Given the description of an element on the screen output the (x, y) to click on. 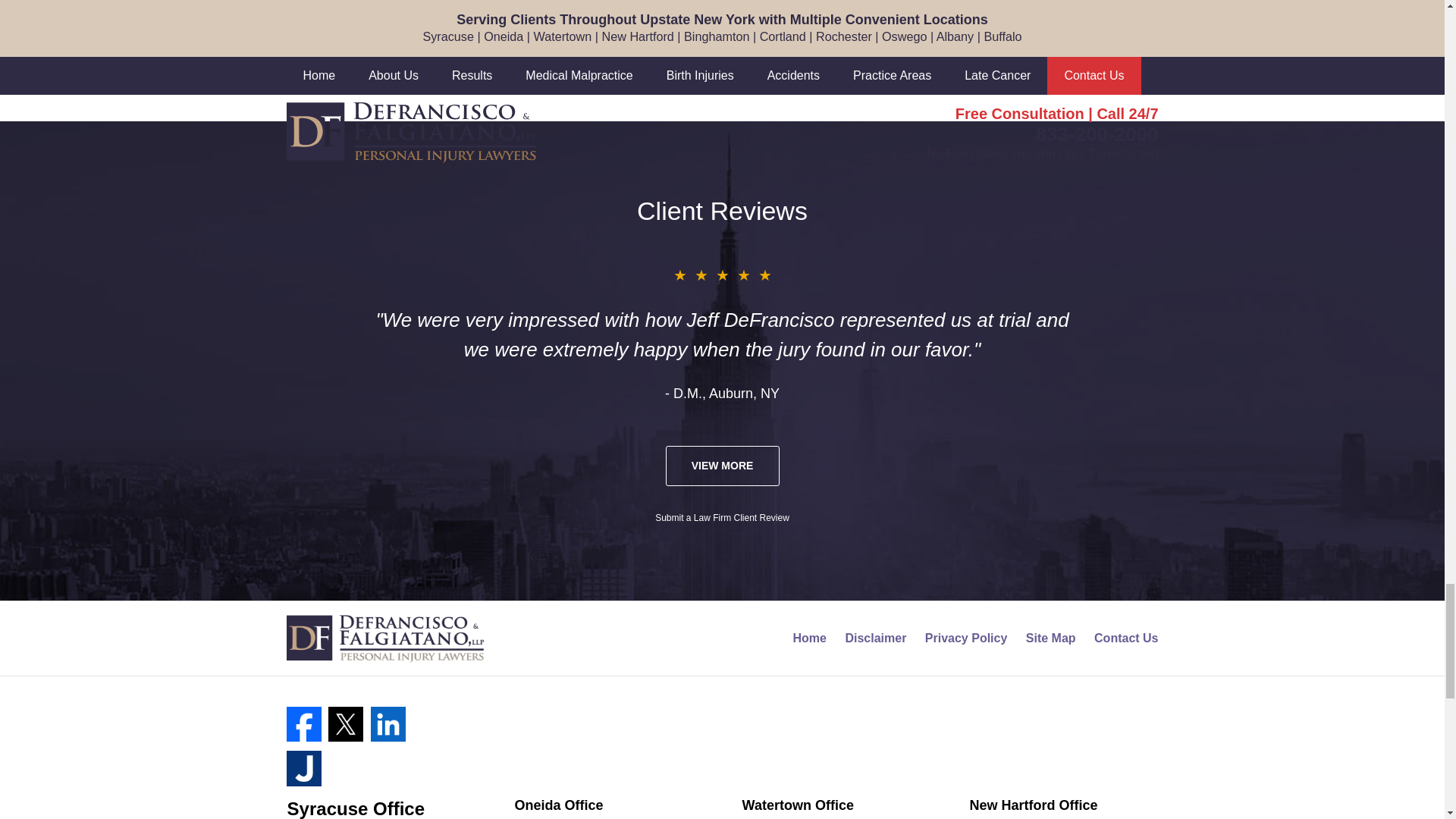
Twitter (345, 724)
Facebook (303, 724)
LinkedIn (388, 724)
Justia (303, 768)
